Given the description of an element on the screen output the (x, y) to click on. 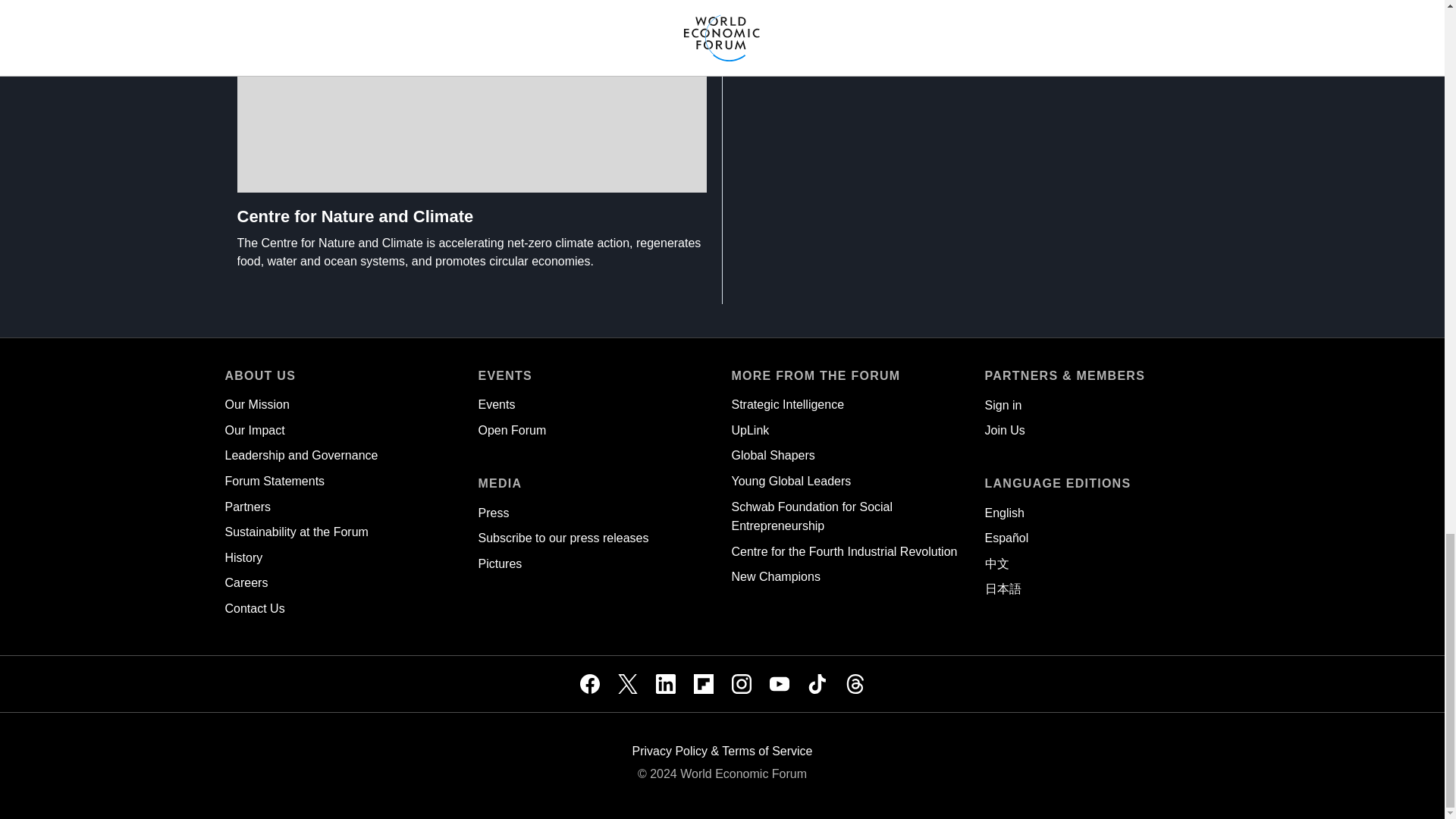
Strategic Intelligence (787, 404)
English (1003, 512)
Centre for the Fourth Industrial Revolution (843, 551)
Our Impact (253, 430)
Pictures (499, 563)
Careers (245, 582)
Sustainability at the Forum (296, 531)
Schwab Foundation for Social Entrepreneurship (811, 516)
Press (492, 512)
Our Mission (256, 404)
Global Shapers (771, 454)
Sign in (1003, 405)
Leadership and Governance (300, 454)
Open Forum (511, 430)
Contact Us (253, 608)
